Given the description of an element on the screen output the (x, y) to click on. 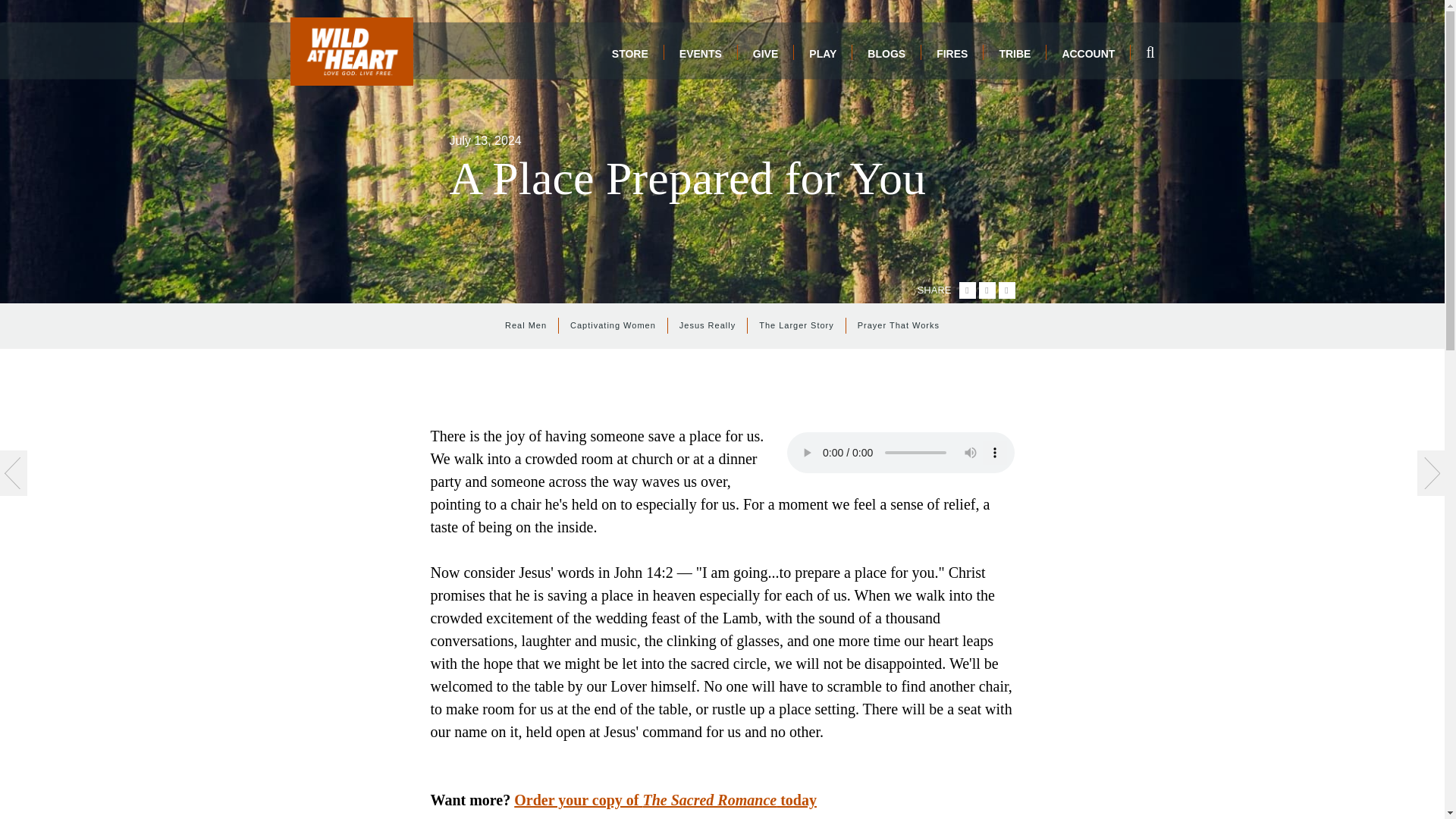
GIVE (764, 53)
TRIBE (1014, 53)
STORE (629, 53)
EVENTS (700, 53)
PLAY (822, 53)
BLOGS (886, 53)
FIRES (952, 53)
ACCOUNT (1088, 53)
